Given the description of an element on the screen output the (x, y) to click on. 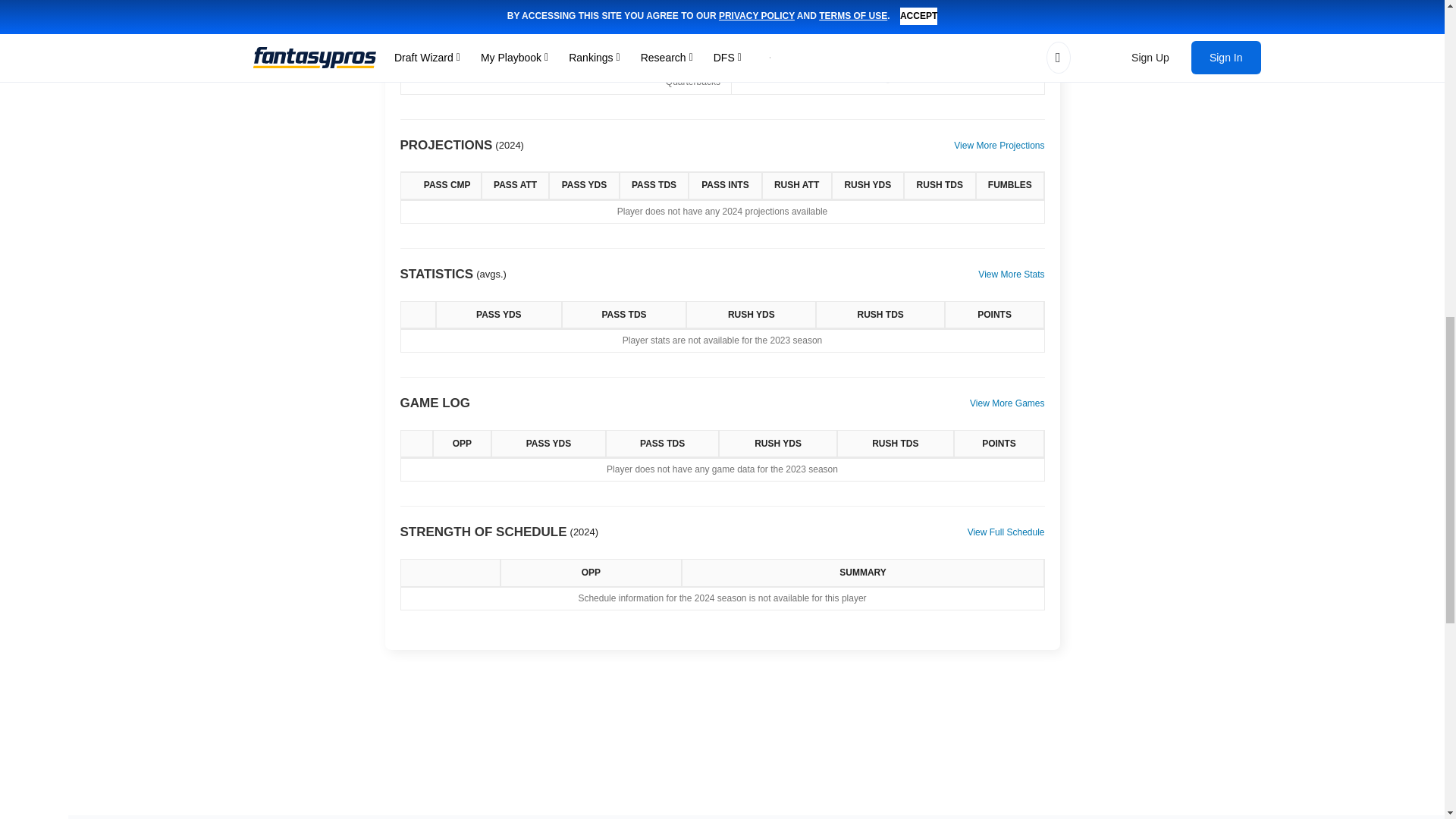
View More Games (1006, 403)
View More Rankings (1002, 2)
View More Stats (1010, 274)
View Full Schedule (1006, 532)
View More Projections (998, 146)
